Given the description of an element on the screen output the (x, y) to click on. 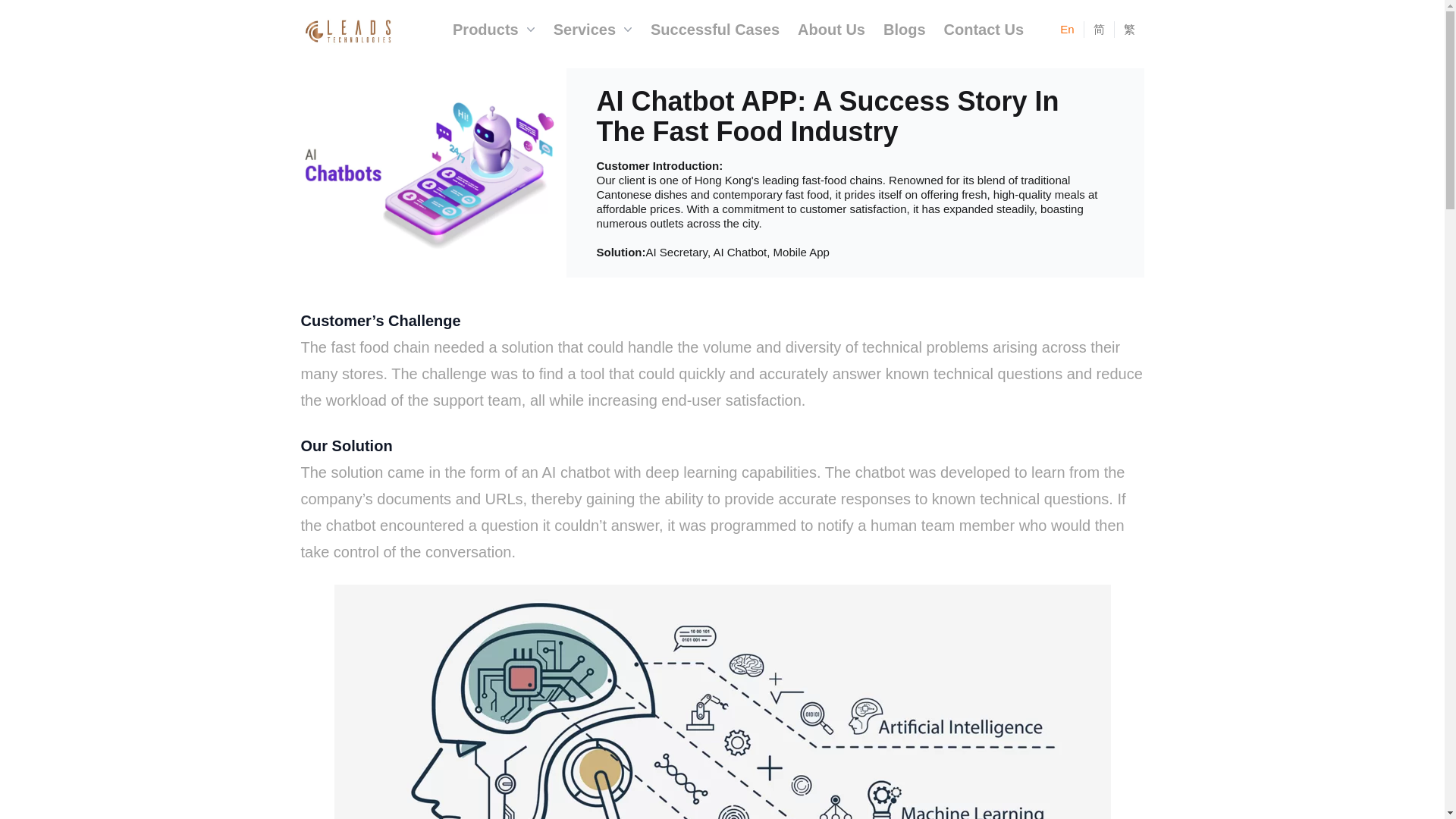
Successful Cases (715, 29)
Products (494, 29)
About Us (832, 29)
Services (593, 29)
